Given the description of an element on the screen output the (x, y) to click on. 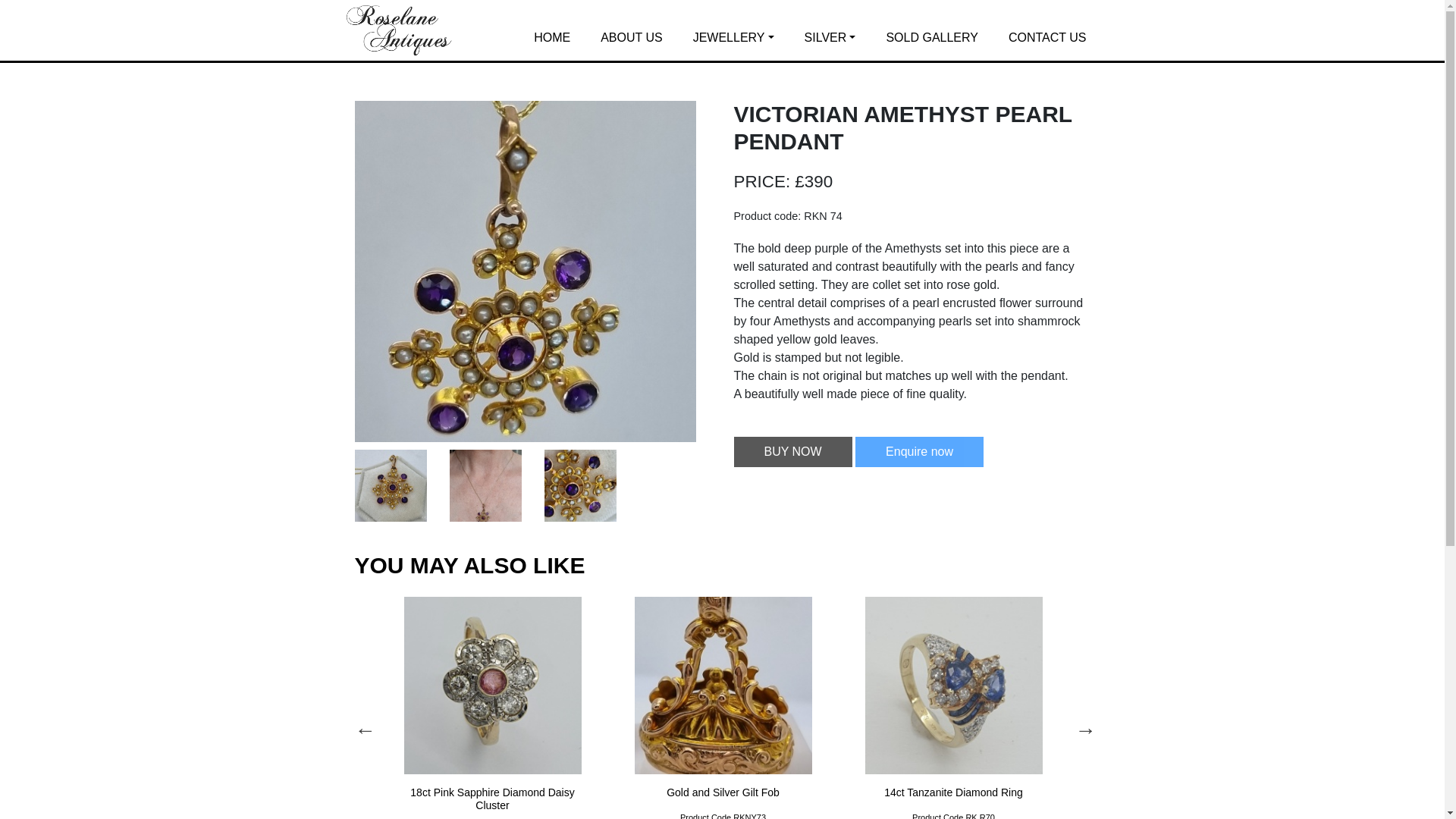
HOME (551, 37)
CONTACT US (1047, 37)
YOU MAY ALSO LIKE (470, 565)
SOLD GALLERY (931, 37)
Previous (362, 726)
SILVER (829, 37)
ABOUT US (631, 37)
Enquire now (920, 451)
BUY NOW (792, 451)
JEWELLERY (733, 37)
